Given the description of an element on the screen output the (x, y) to click on. 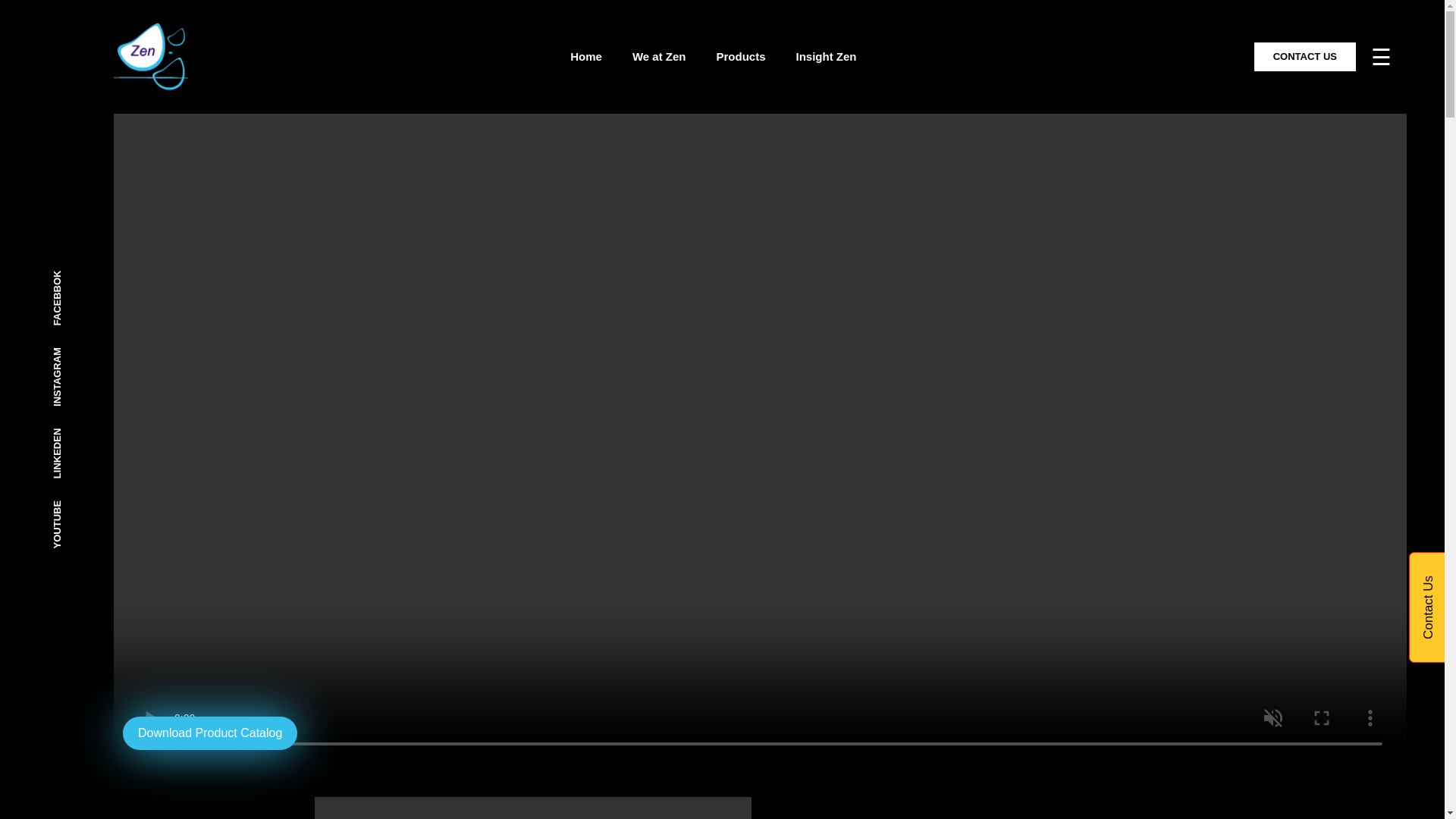
Insight Zen (826, 57)
We at Zen (658, 57)
CONTACT US (1304, 56)
INSTAGRAM (83, 350)
Products (740, 57)
FACEBBOK (81, 274)
Download Product Catalog (209, 732)
Home (586, 57)
LINKEDEN (78, 431)
Download Product Catalog (209, 732)
YOUTUBE (77, 503)
